Given the description of an element on the screen output the (x, y) to click on. 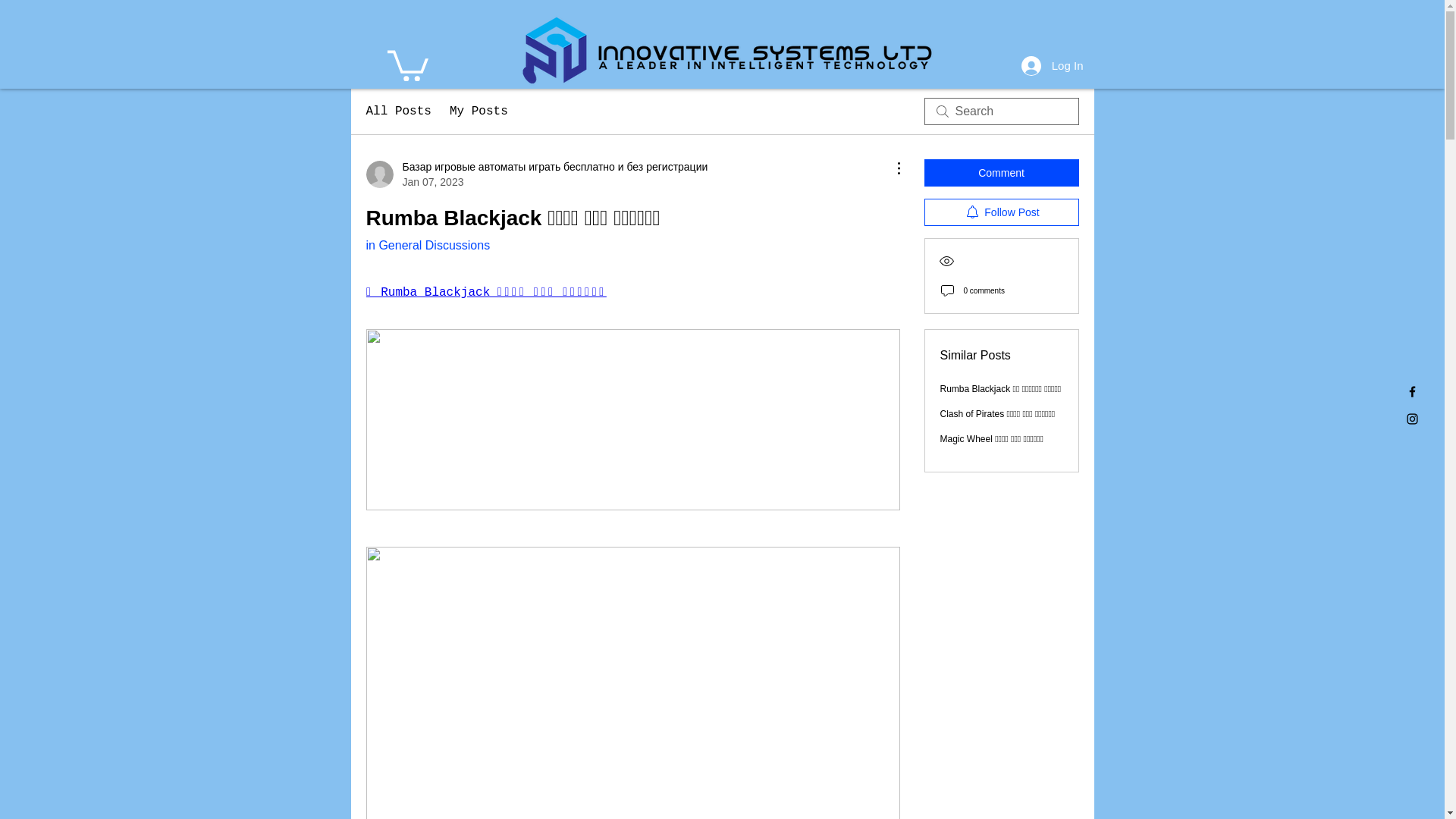
All Posts (397, 111)
Log In (1052, 65)
My Posts (478, 111)
in General Discussions (427, 245)
Follow Post (1000, 212)
Comment (1000, 172)
